Given the description of an element on the screen output the (x, y) to click on. 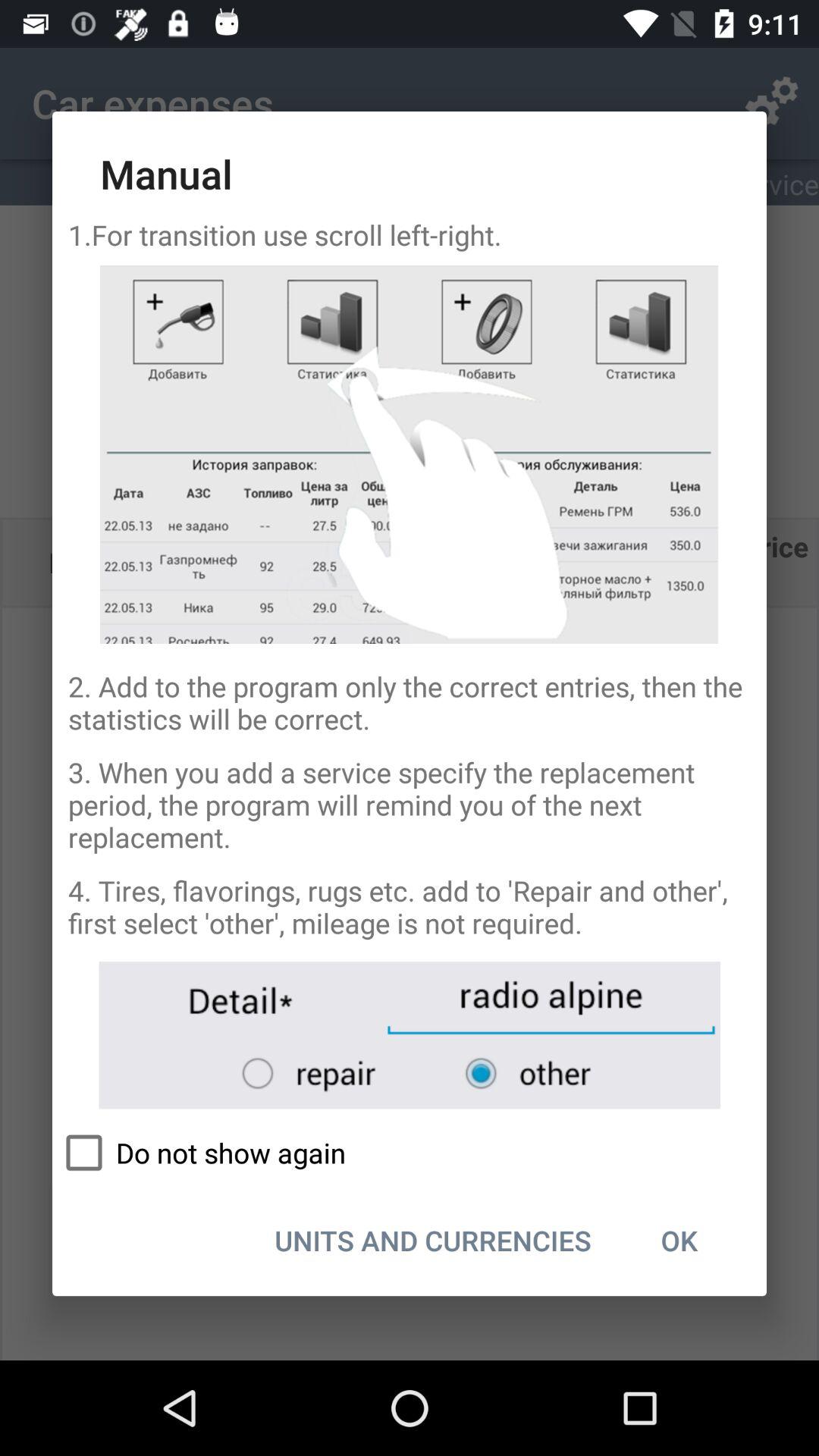
select icon next to the ok item (432, 1240)
